Given the description of an element on the screen output the (x, y) to click on. 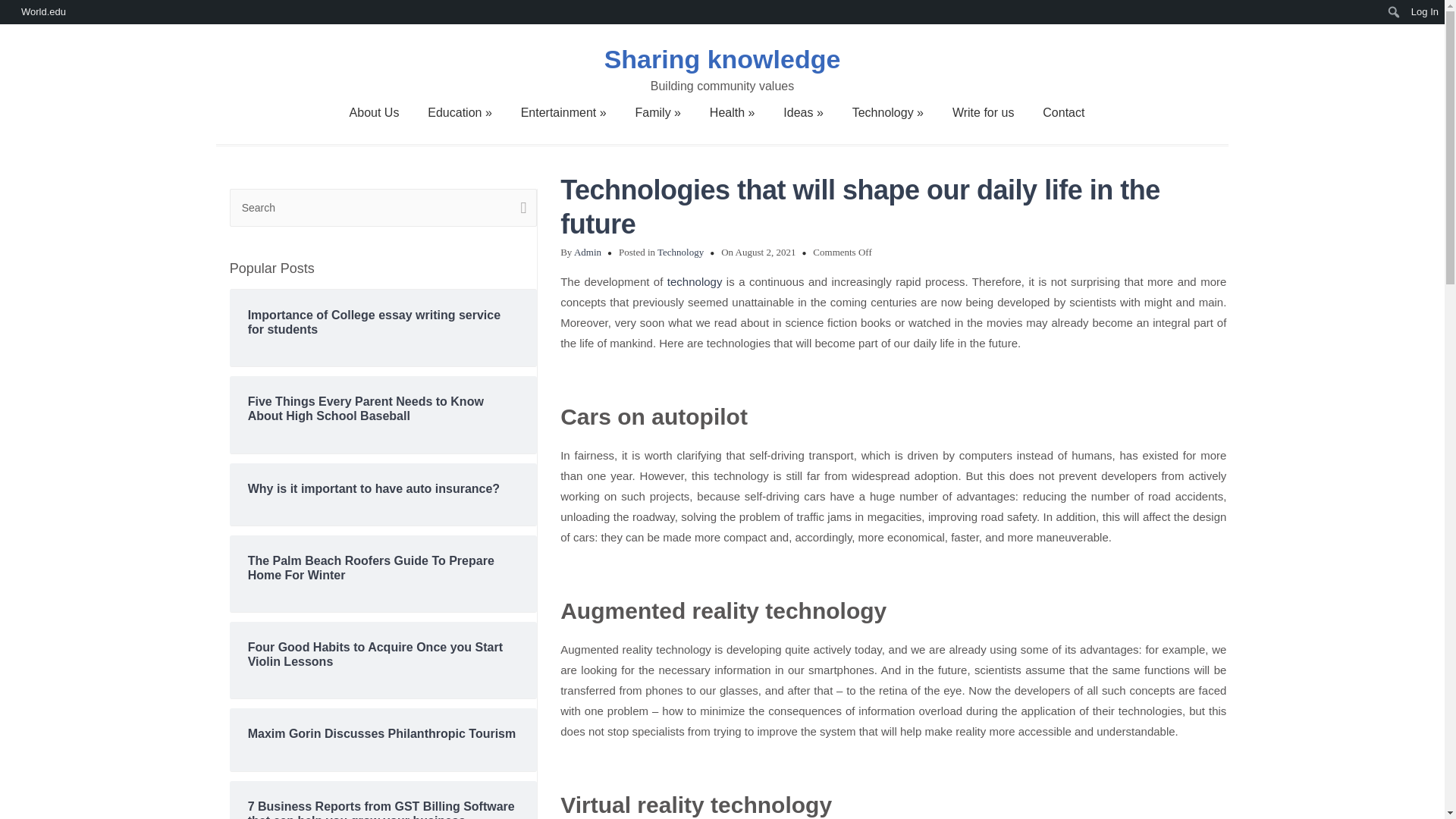
Search (383, 207)
About Us (374, 112)
Importance of College essay writing service for students (383, 321)
Contact (1063, 112)
Search (519, 207)
Search (519, 207)
Write for us (983, 112)
Posts by Admin (587, 251)
Sharing knowledge (722, 59)
